Given the description of an element on the screen output the (x, y) to click on. 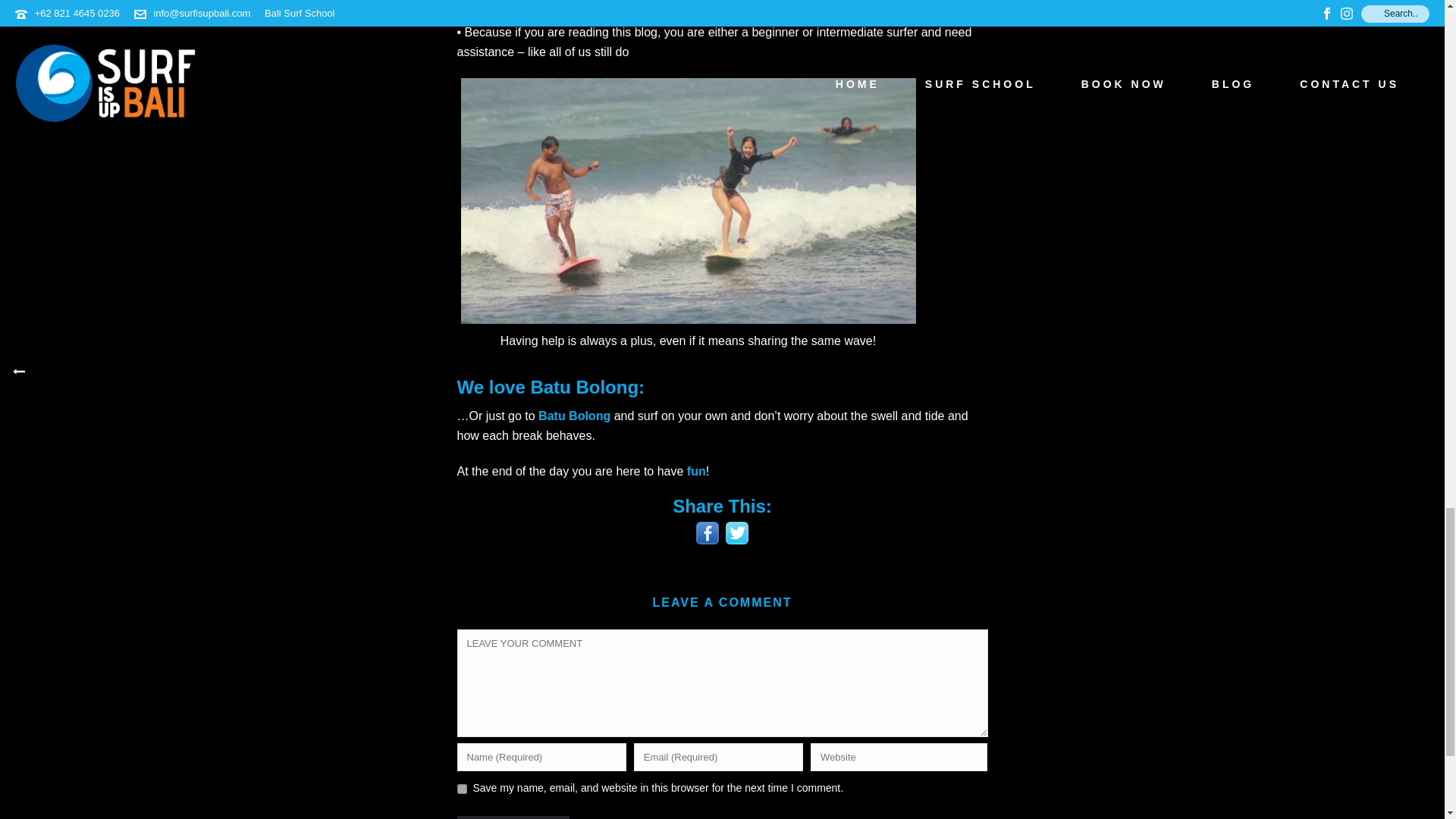
yes (461, 788)
POST COMMENT (513, 817)
fun (696, 471)
Batu Bolong (574, 415)
